Given the description of an element on the screen output the (x, y) to click on. 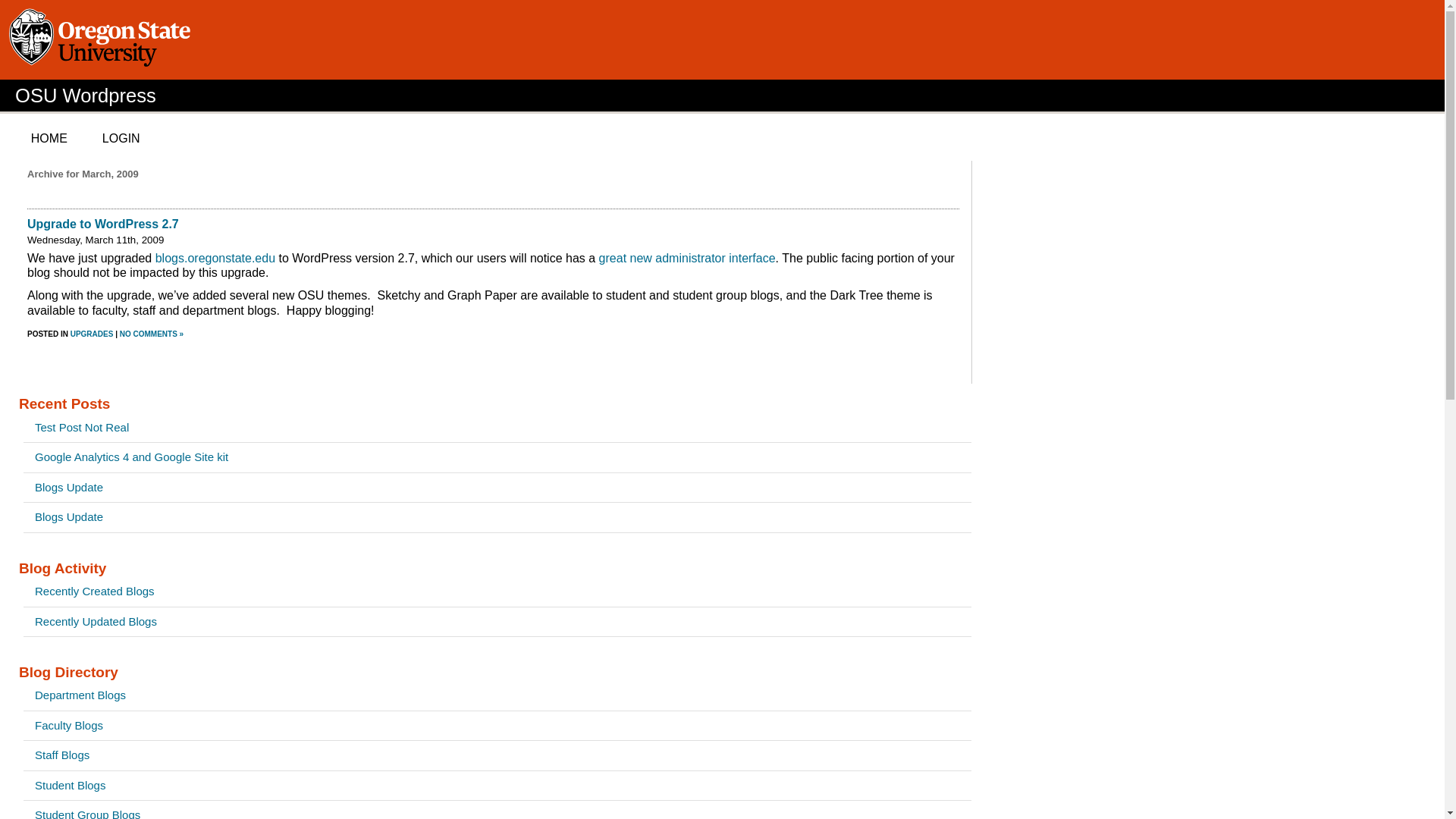
Test Post Not Real (497, 427)
Google Analytics 4 and Google Site kit (497, 457)
LOGIN (121, 138)
Staff Blogs (497, 755)
HOME (49, 138)
Faculty Blogs (497, 725)
Student Blogs (497, 785)
Recently Created Blogs (497, 591)
Blogs Update (497, 487)
Student Group Blogs (497, 809)
Blogs Update (497, 516)
great new administrator interface (687, 257)
blogs.oregonstate.edu (215, 257)
Oregon State University (102, 39)
Upgrade to WordPress 2.7 (103, 223)
